Given the description of an element on the screen output the (x, y) to click on. 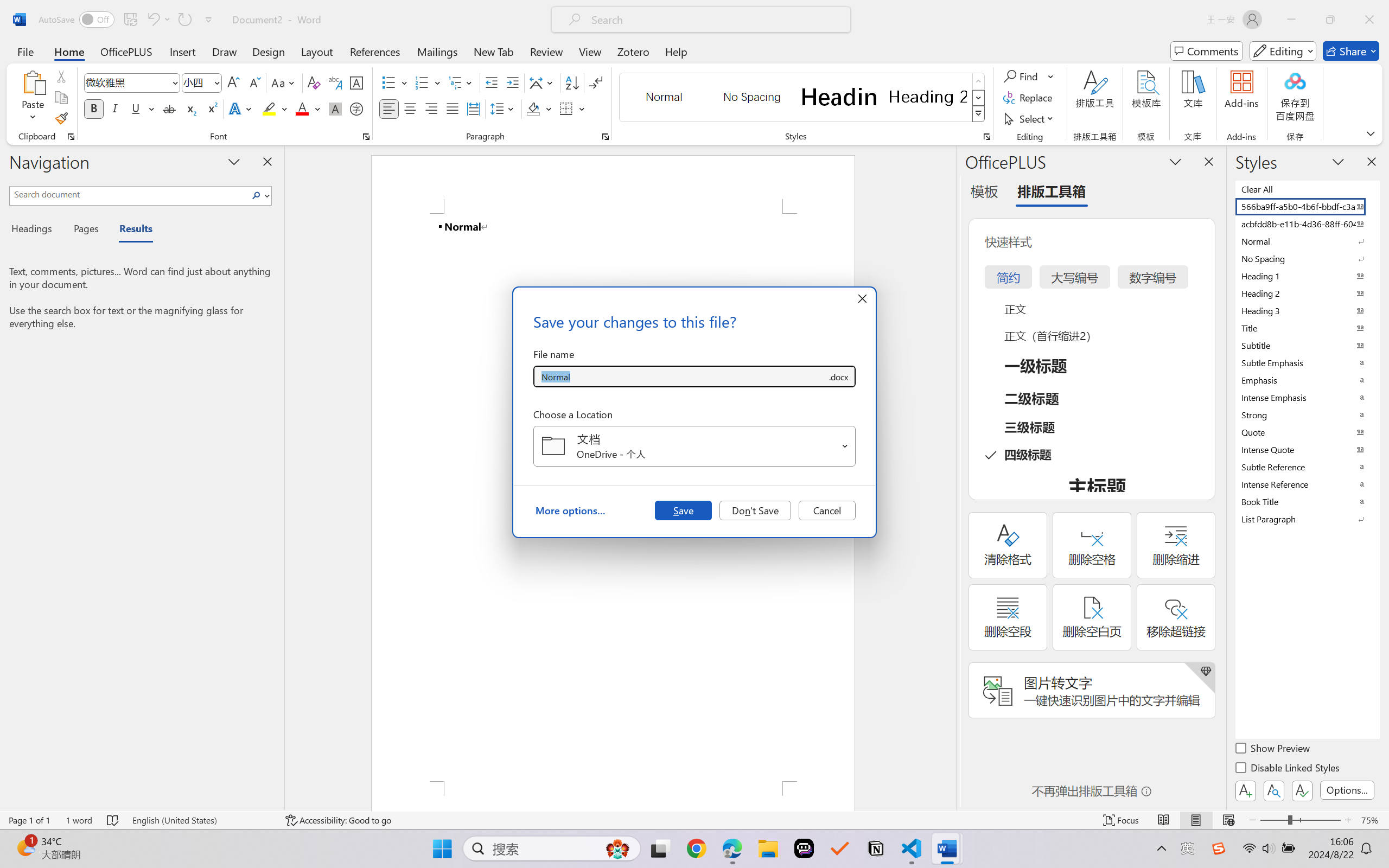
Heading 2 (927, 96)
Show/Hide Editing Marks (595, 82)
Find (1022, 75)
Shrink Font (253, 82)
Save as type (837, 376)
Format Painter (60, 118)
Book Title (1306, 501)
Row up (978, 81)
Strong (1306, 414)
Minimize (1291, 19)
